Given the description of an element on the screen output the (x, y) to click on. 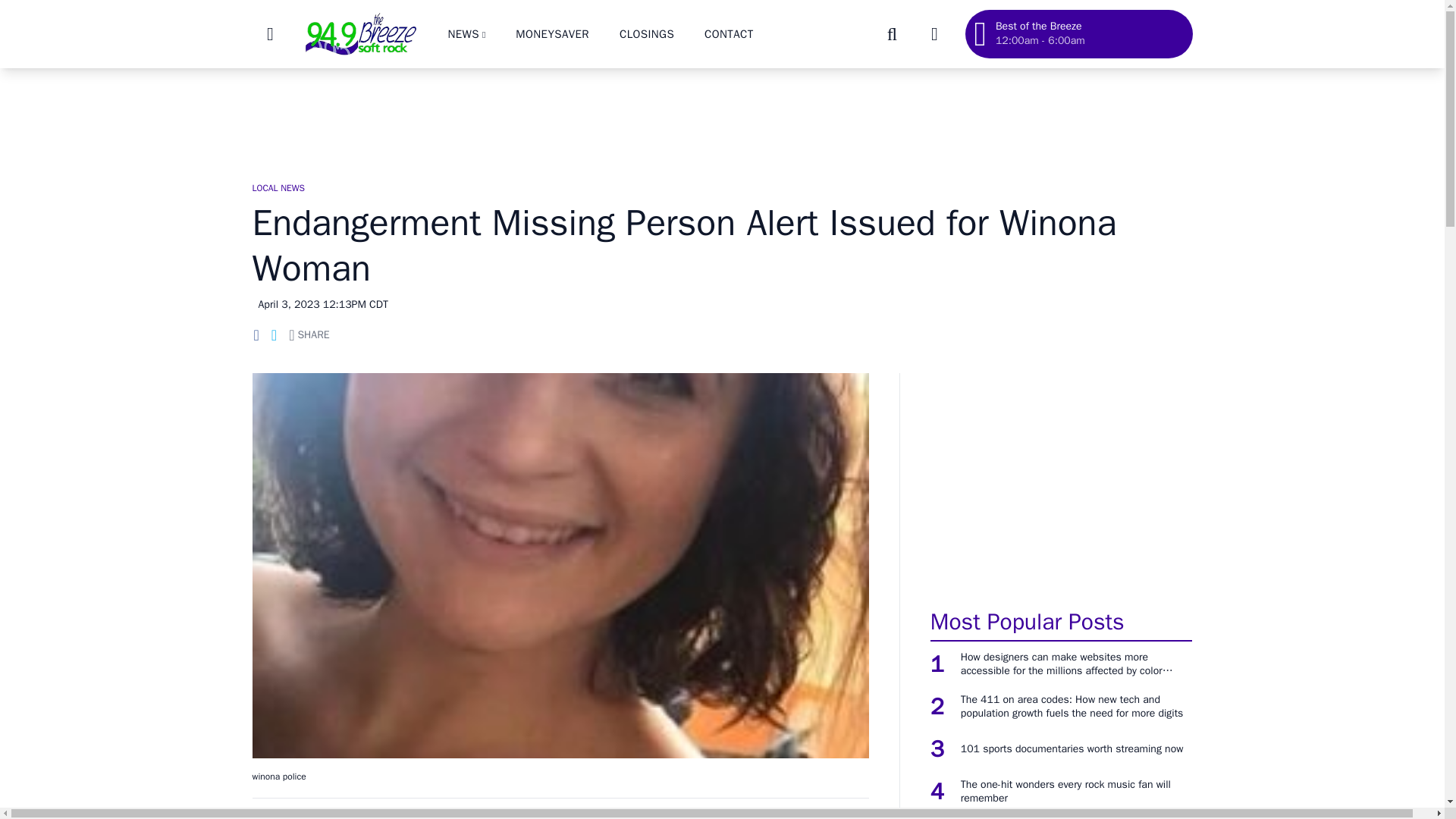
MONEYSAVER (552, 33)
3rd party ad content (1060, 483)
3rd party ad content (721, 117)
The Breeze 94.9 (359, 33)
